Given the description of an element on the screen output the (x, y) to click on. 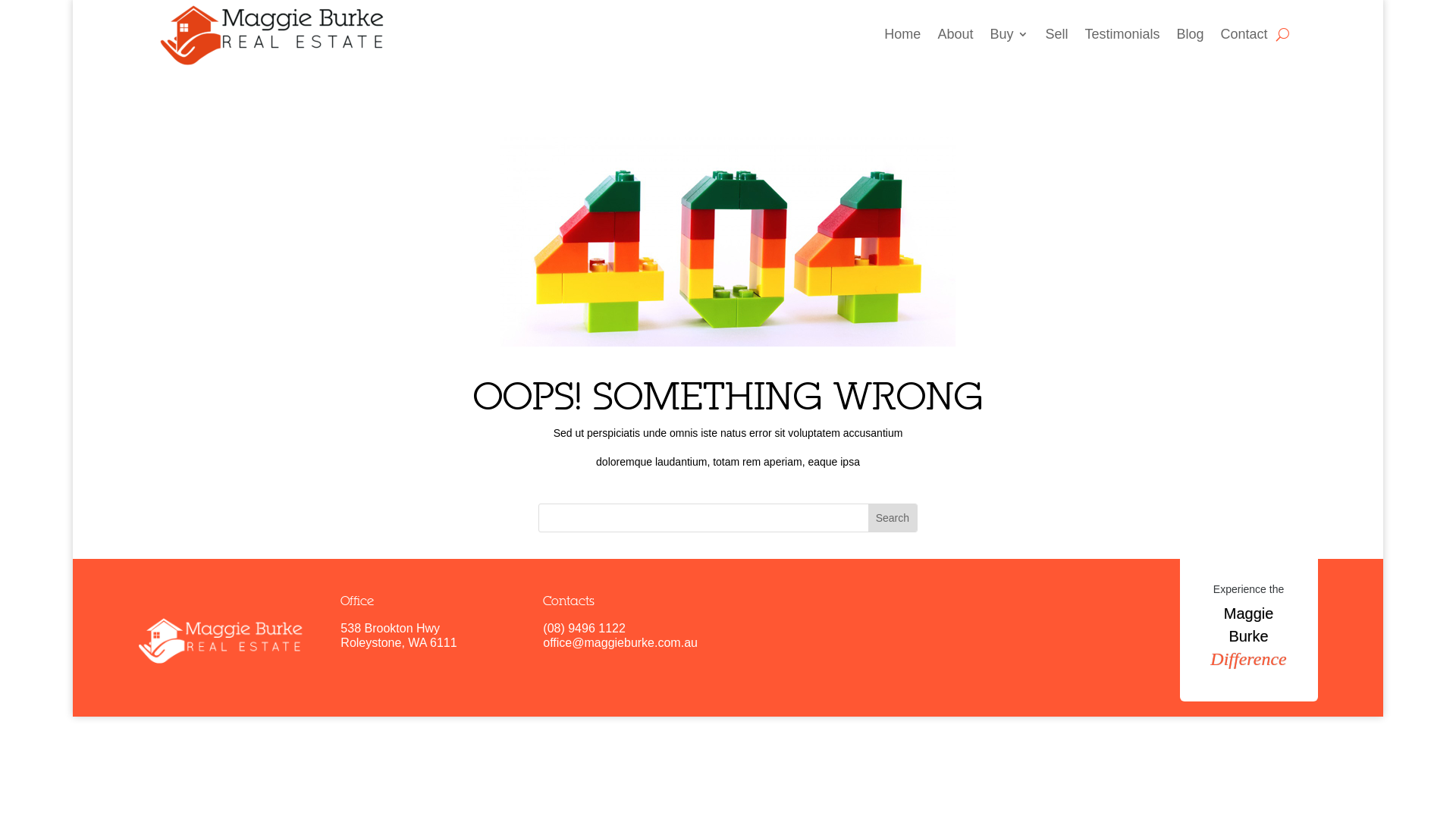
(08) 9496 1122 Element type: text (583, 627)
538 Brookton Hwy
Roleystone, WA 6111 Element type: text (398, 635)
Search Element type: text (892, 517)
office@maggieburke.com.au Element type: text (619, 642)
Untitled design (6) Element type: hover (221, 641)
